Given the description of an element on the screen output the (x, y) to click on. 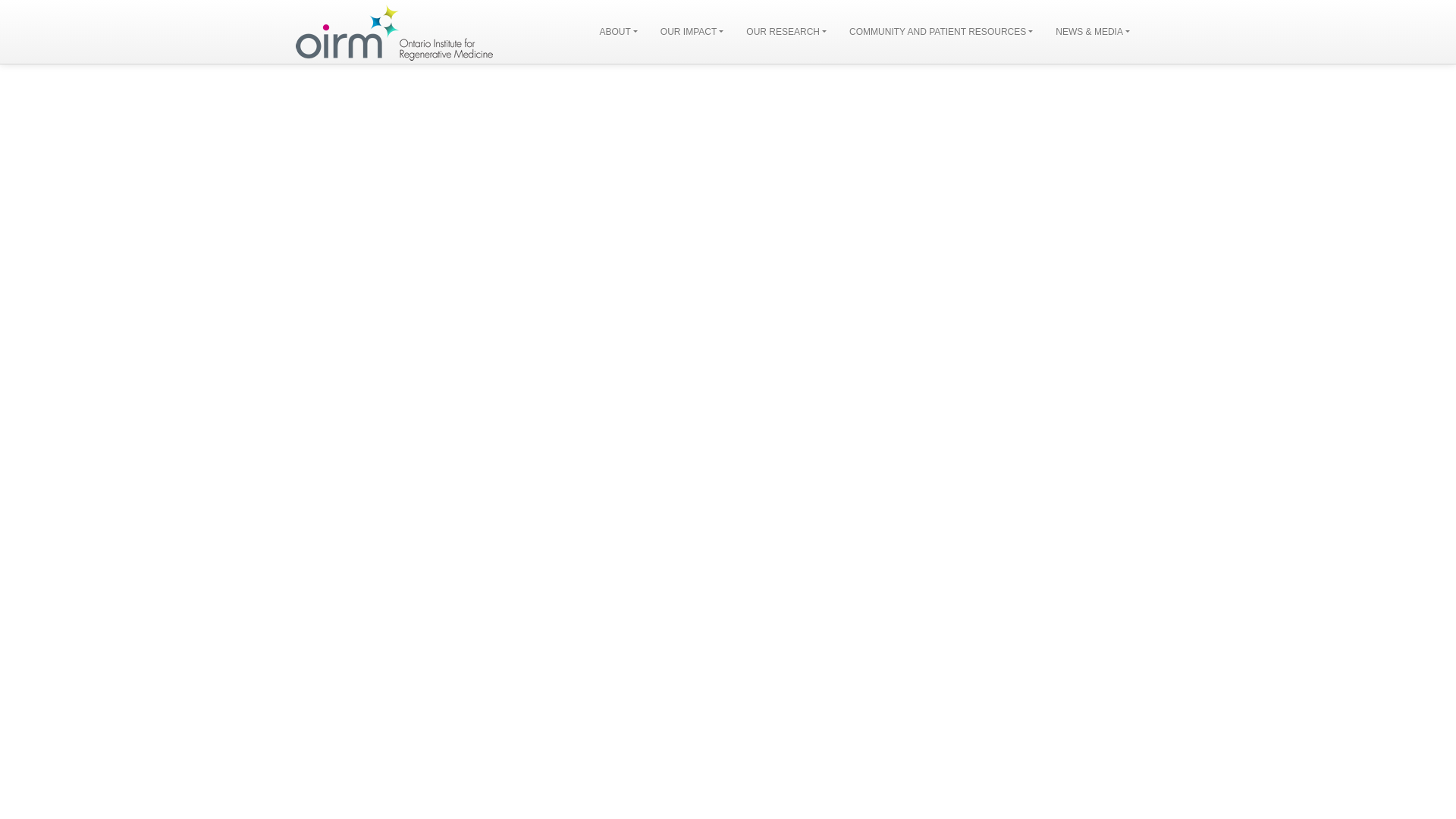
Home (394, 32)
COMMUNITY AND PATIENT RESOURCES (940, 32)
OUR IMPACT (692, 32)
ABOUT (617, 32)
About (617, 32)
OUR RESEARCH (786, 32)
Our Impact (692, 32)
